Given the description of an element on the screen output the (x, y) to click on. 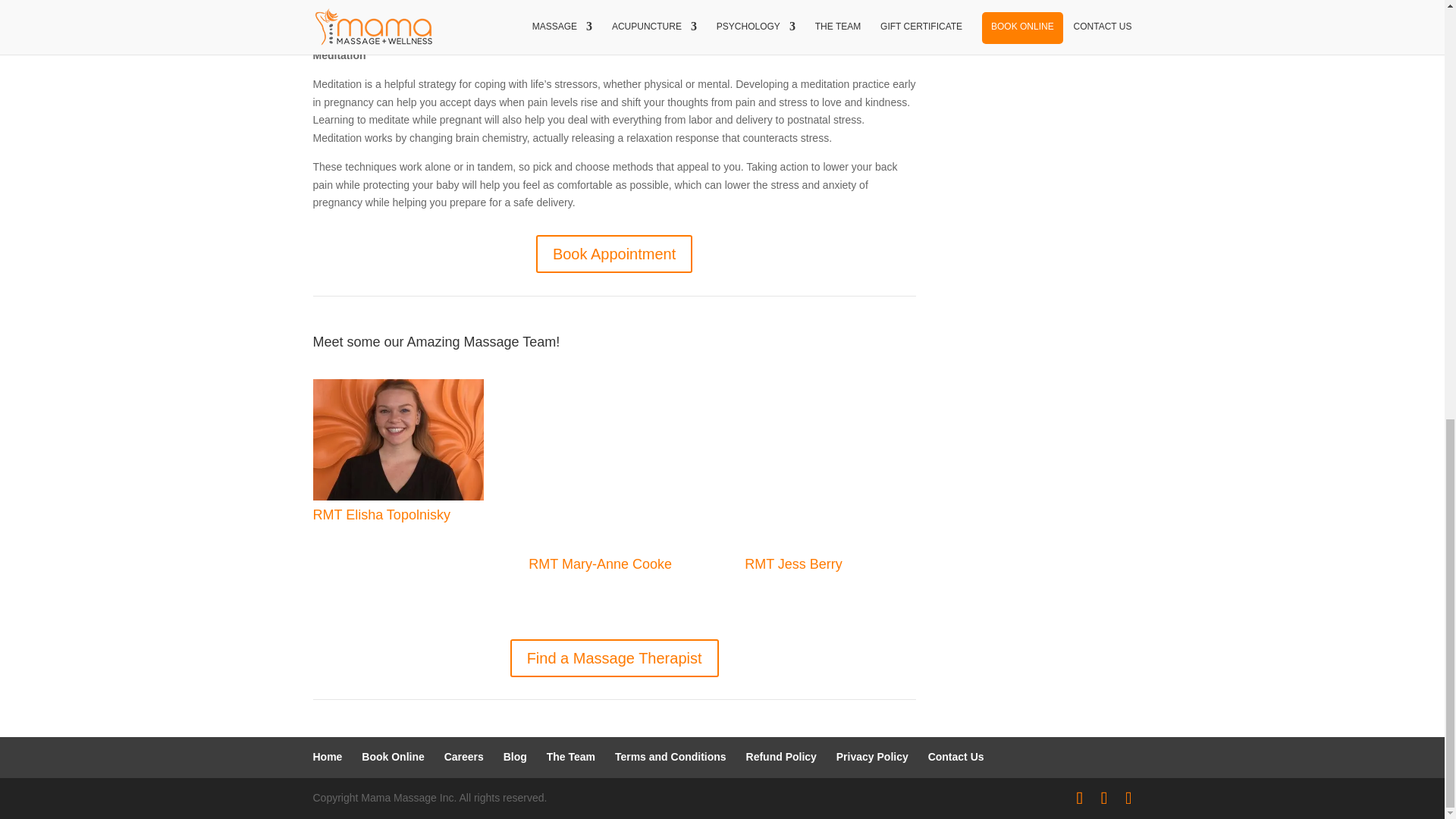
RMT Jess Berry (829, 464)
RMT Mary-Anne Cooke (599, 563)
RMT Elisha Topolnisky (381, 514)
RMT Mary-Anne Cooke (613, 464)
RMT Jess Berry (793, 563)
RMT Elisha Topolnisky (398, 439)
